Given the description of an element on the screen output the (x, y) to click on. 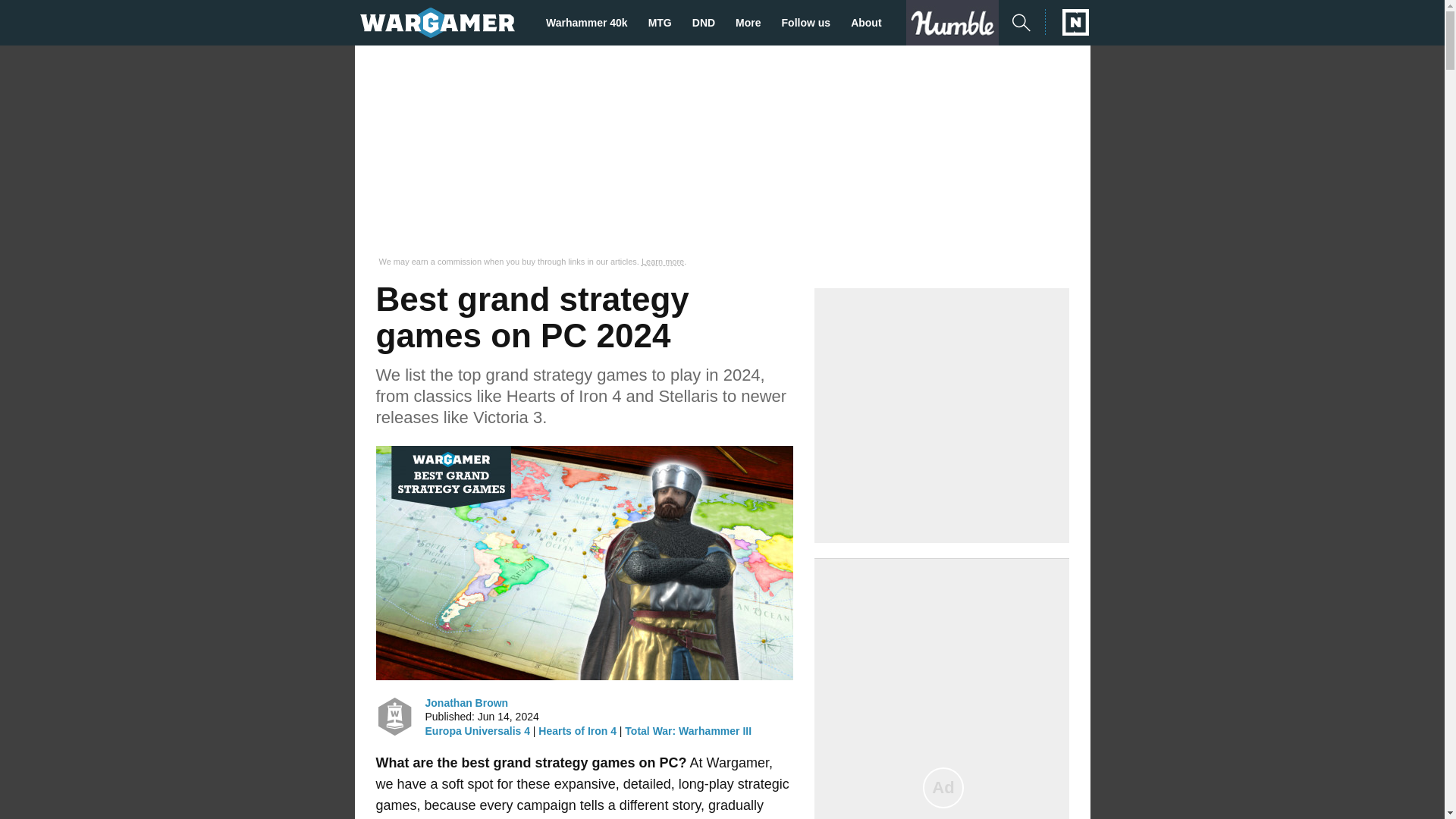
Best grand strategy games on PC 2024 (584, 562)
Europa Universalis 4 (477, 730)
Warhammer 40k (591, 22)
Learn more (663, 261)
Total War: Warhammer III (687, 730)
Jonathan Brown (394, 716)
Wargamer (437, 22)
Jonathan Brown (466, 702)
Hearts of Iron 4 (576, 730)
Follow us (810, 22)
Network N Media (1067, 22)
Humble Bundle partnership (957, 22)
